Given the description of an element on the screen output the (x, y) to click on. 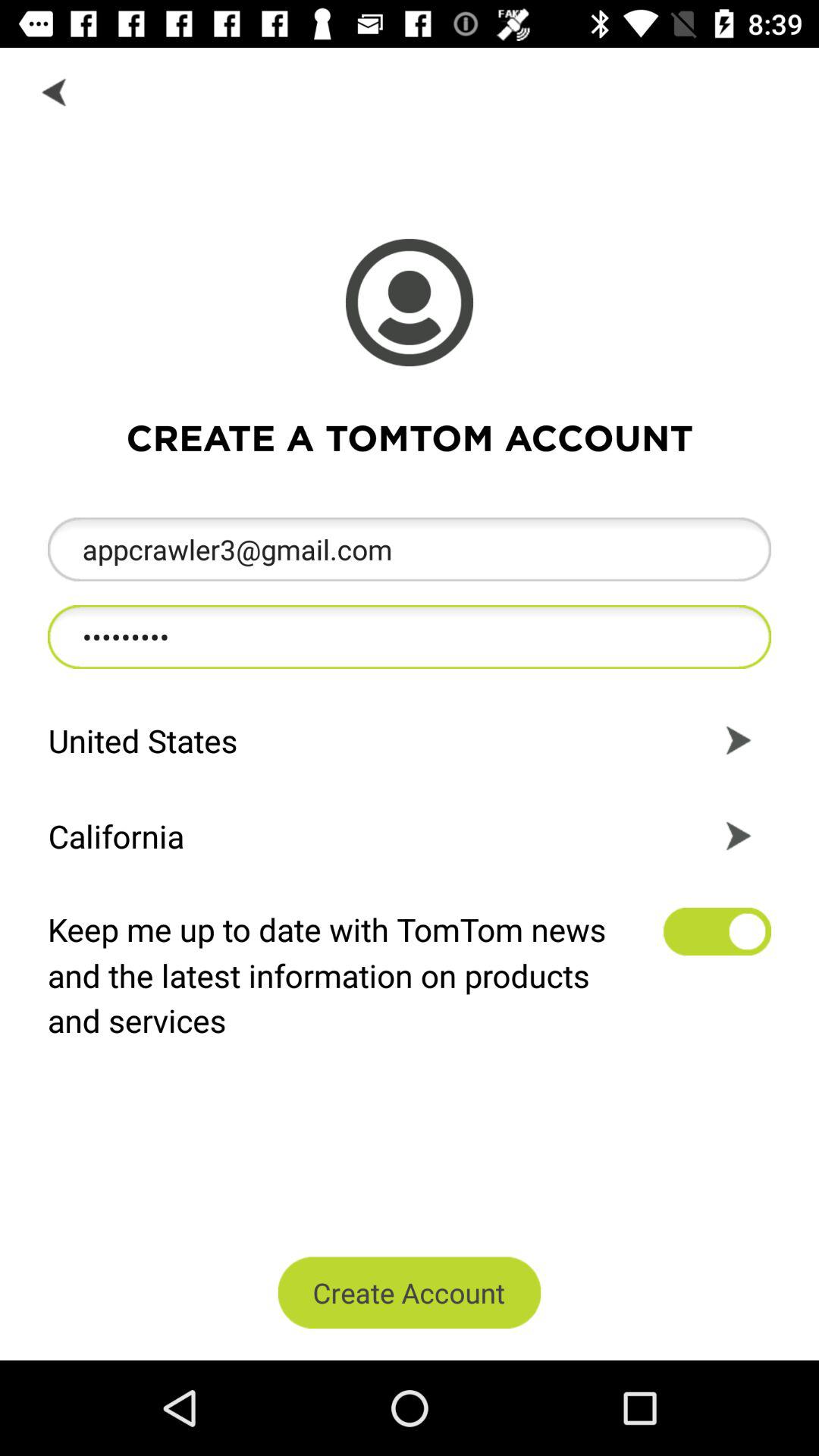
toggle update option (717, 931)
